Given the description of an element on the screen output the (x, y) to click on. 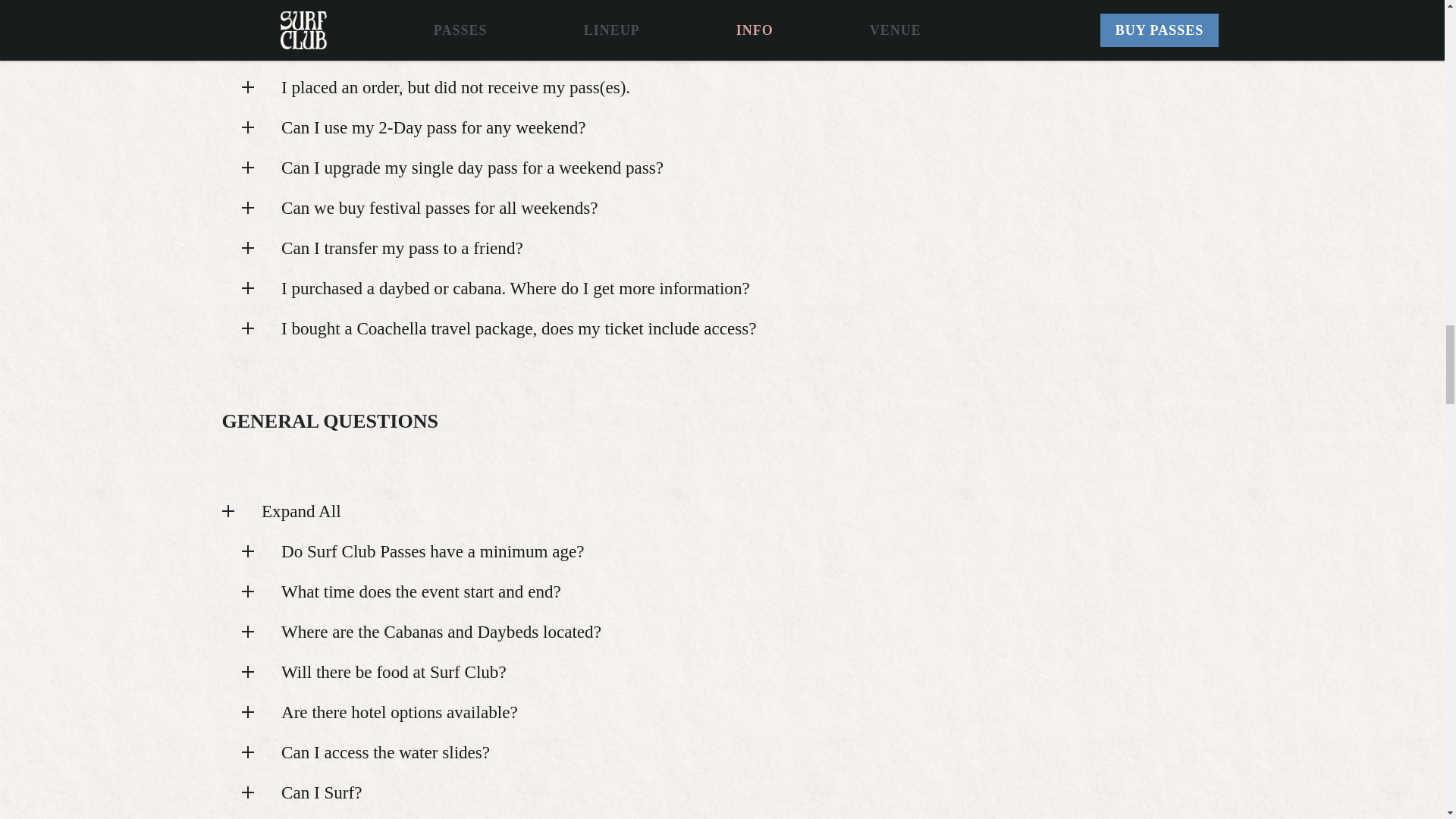
GENERAL QUESTIONS (722, 421)
